Given the description of an element on the screen output the (x, y) to click on. 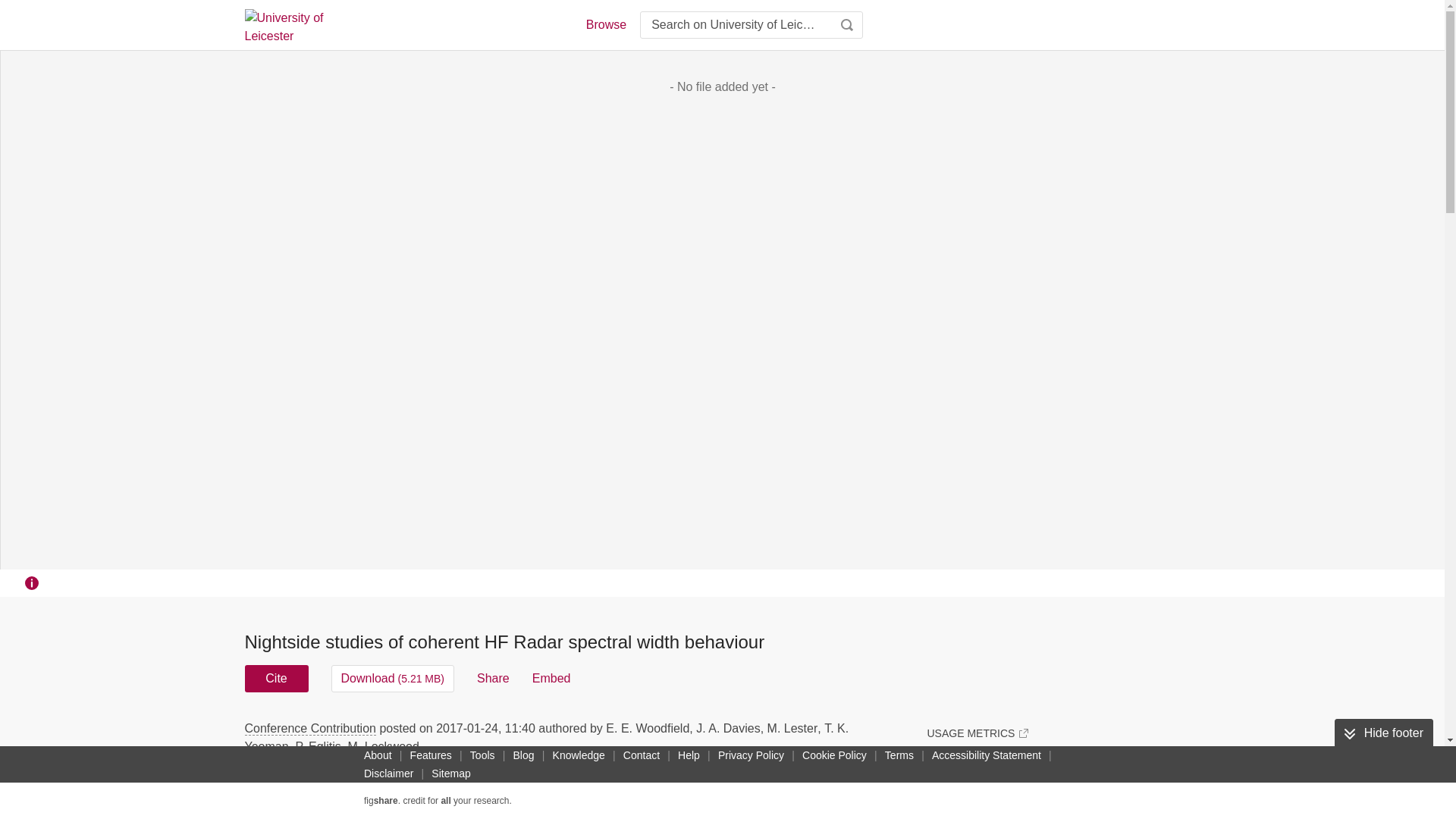
Browse (605, 24)
Cite (275, 678)
Embed (551, 678)
USAGE METRICS (976, 732)
Share (493, 678)
